Given the description of an element on the screen output the (x, y) to click on. 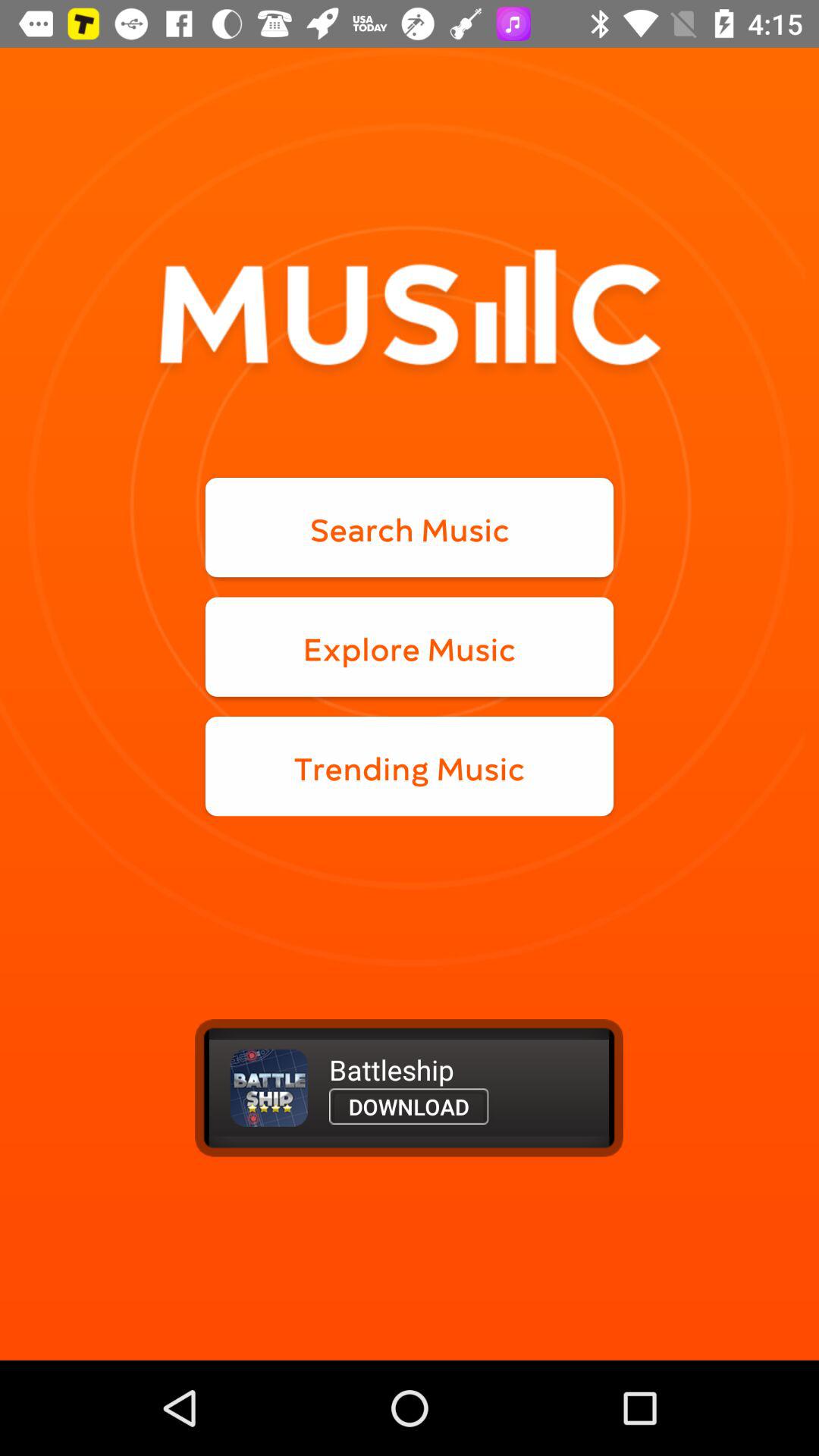
flip to explore music item (409, 646)
